Given the description of an element on the screen output the (x, y) to click on. 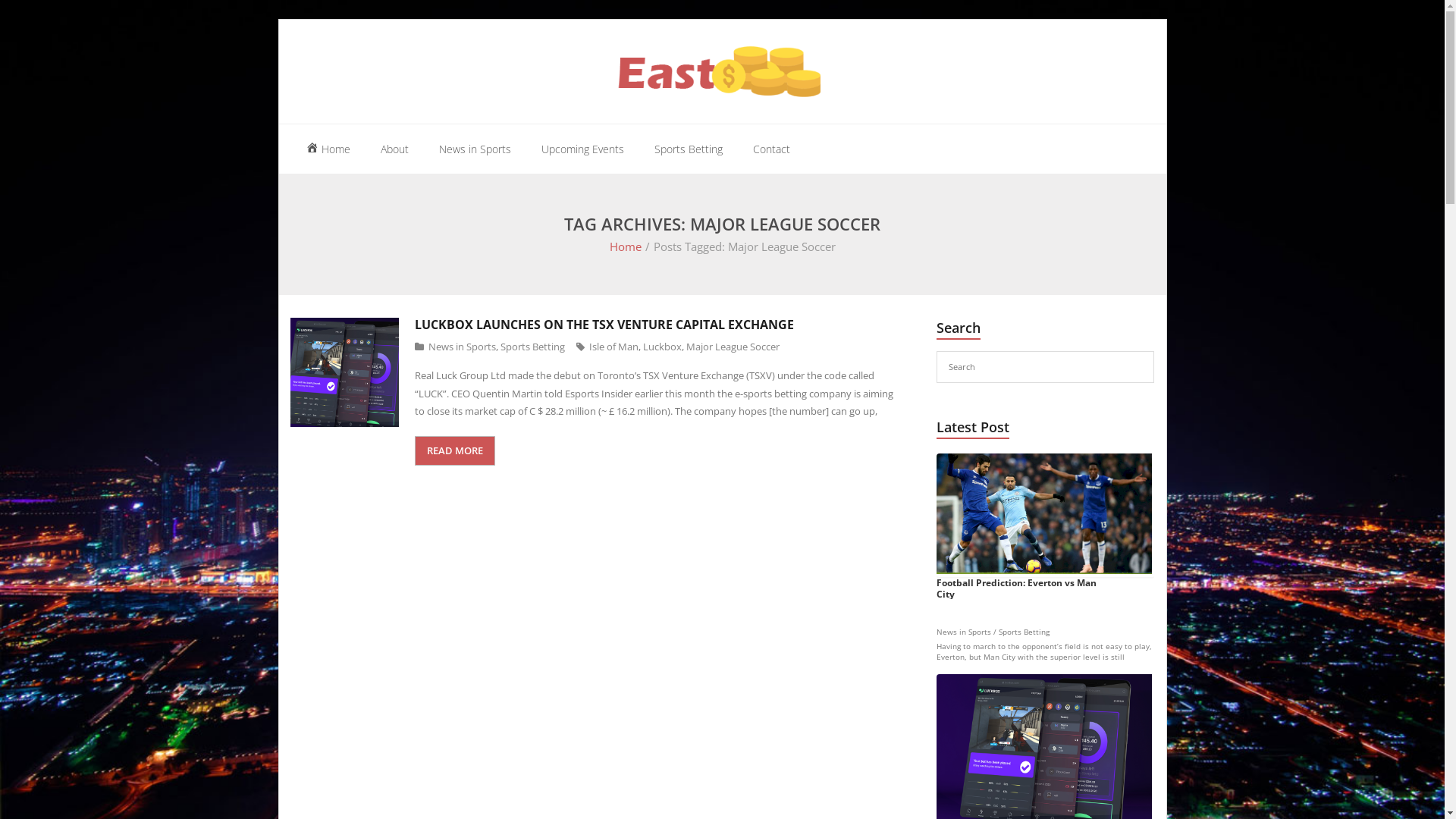
Luckbox Element type: text (662, 346)
Home Element type: text (625, 246)
READ MORE Element type: text (454, 450)
Upcoming Events Element type: text (582, 148)
Sports Betting Element type: text (688, 148)
About Element type: text (394, 148)
Skip to content Element type: text (277, 18)
Football Prediction: Everton vs Man City Element type: text (1045, 526)
News in Sports Element type: text (474, 148)
Home Element type: text (326, 148)
LUCKBOX LAUNCHES ON THE TSX VENTURE CAPITAL EXCHANGE Element type: text (603, 324)
Search Element type: text (34, 16)
Major League Soccer Element type: text (732, 346)
Sports Betting Element type: text (532, 346)
News in Sports Element type: text (461, 346)
Contact Element type: text (771, 148)
Isle of Man Element type: text (613, 346)
